Given the description of an element on the screen output the (x, y) to click on. 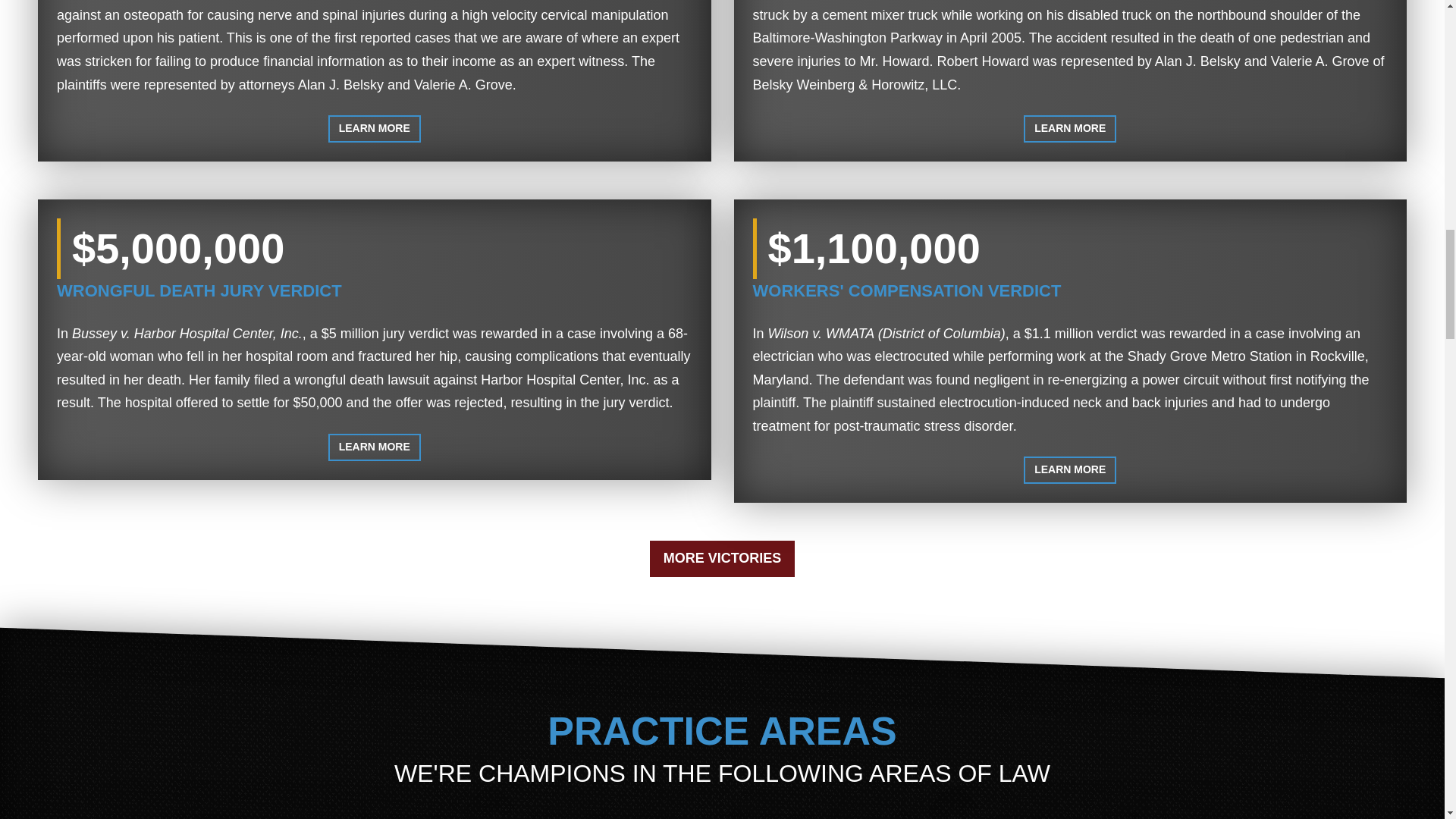
MORE VICTORIES (721, 558)
LEARN MORE (1069, 470)
LEARN MORE (374, 128)
LEARN MORE (374, 447)
LEARN MORE (1069, 128)
